Given the description of an element on the screen output the (x, y) to click on. 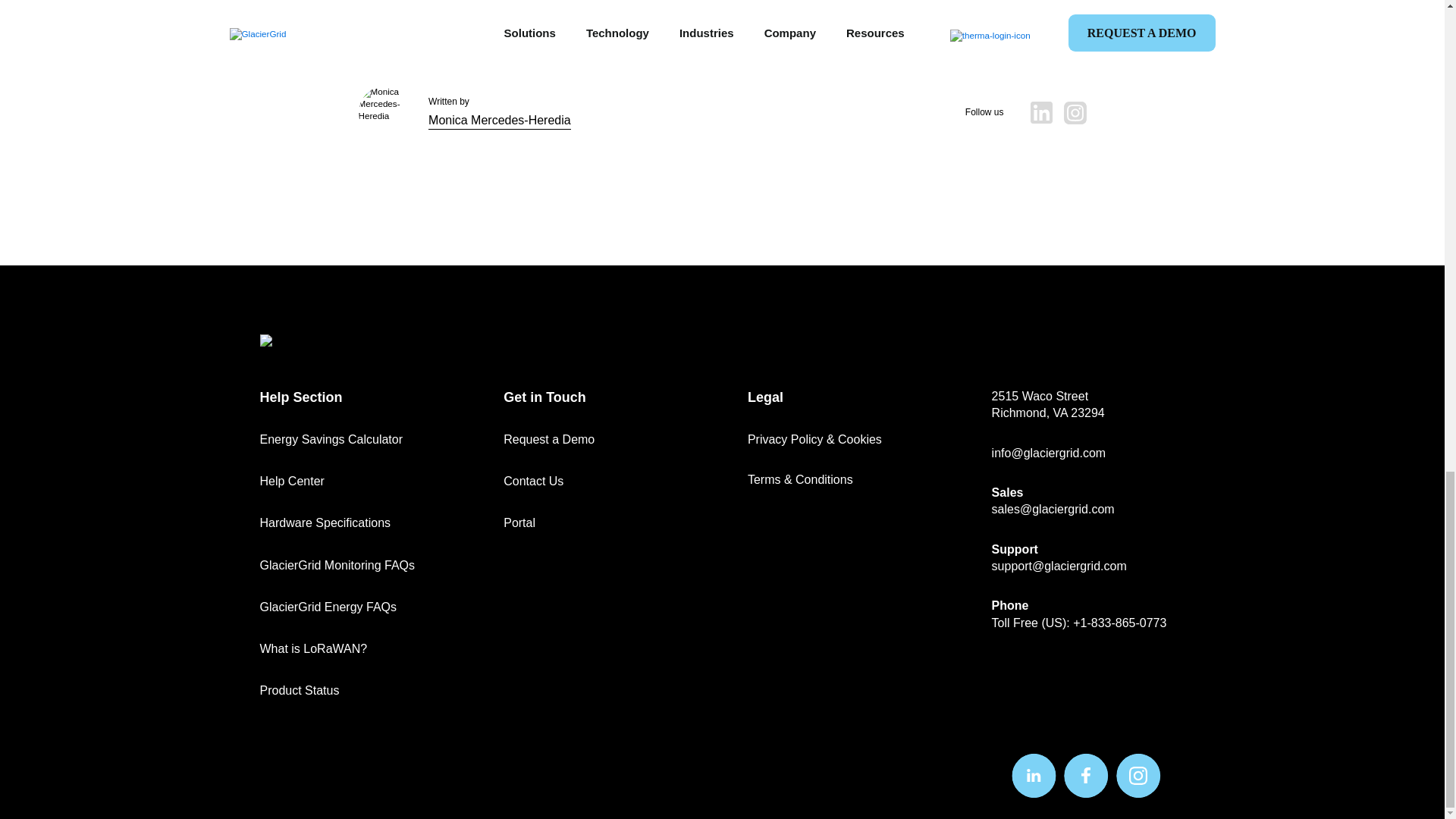
glaciergrid-primary-white (313, 340)
